Given the description of an element on the screen output the (x, y) to click on. 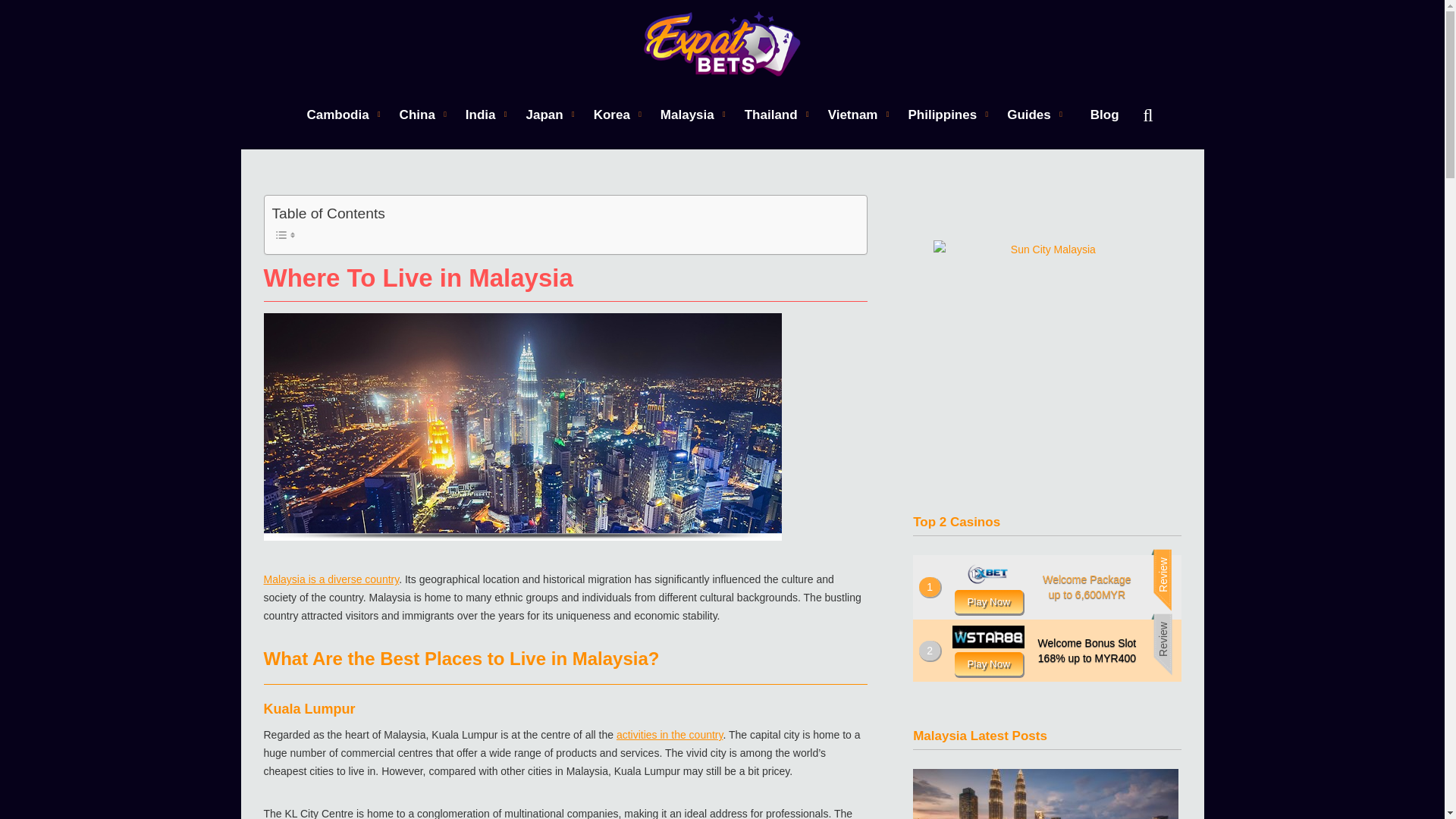
Wstar88 (989, 662)
1xbet (989, 601)
Cambodia (336, 114)
Best Things to Do in Kuala Lumpur (1046, 794)
Expat Bets (721, 43)
